Given the description of an element on the screen output the (x, y) to click on. 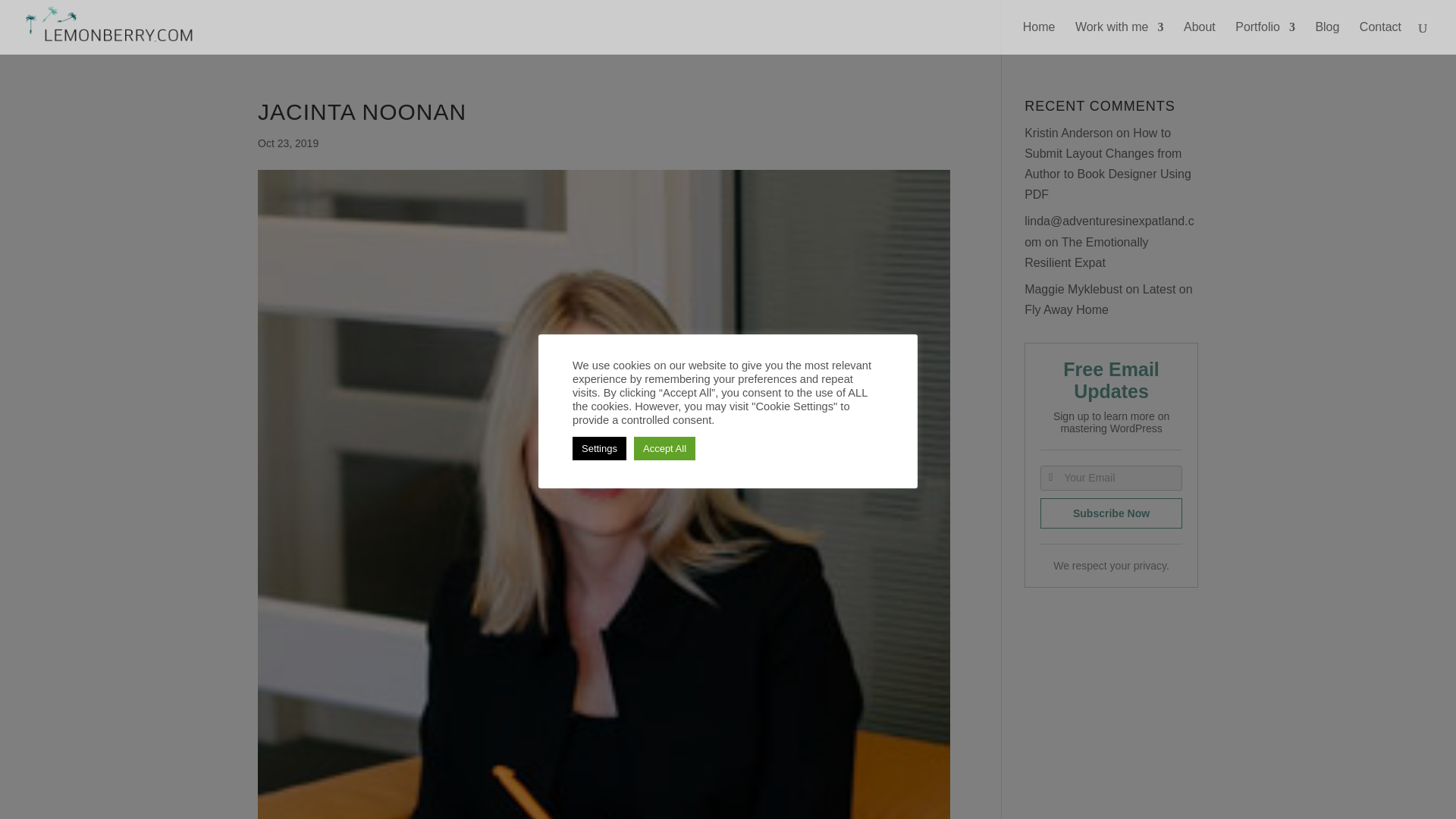
Contact (1379, 38)
Home (1039, 38)
The Emotionally Resilient Expat (1086, 252)
Latest on Fly Away Home (1108, 299)
About (1199, 38)
Subscribe Now (1111, 512)
Work with me (1119, 38)
Subscribe Now (1111, 512)
Portfolio (1264, 38)
Kristin Anderson (1069, 132)
Maggie Myklebust (1073, 288)
Accept All (664, 448)
Settings (599, 448)
